Given the description of an element on the screen output the (x, y) to click on. 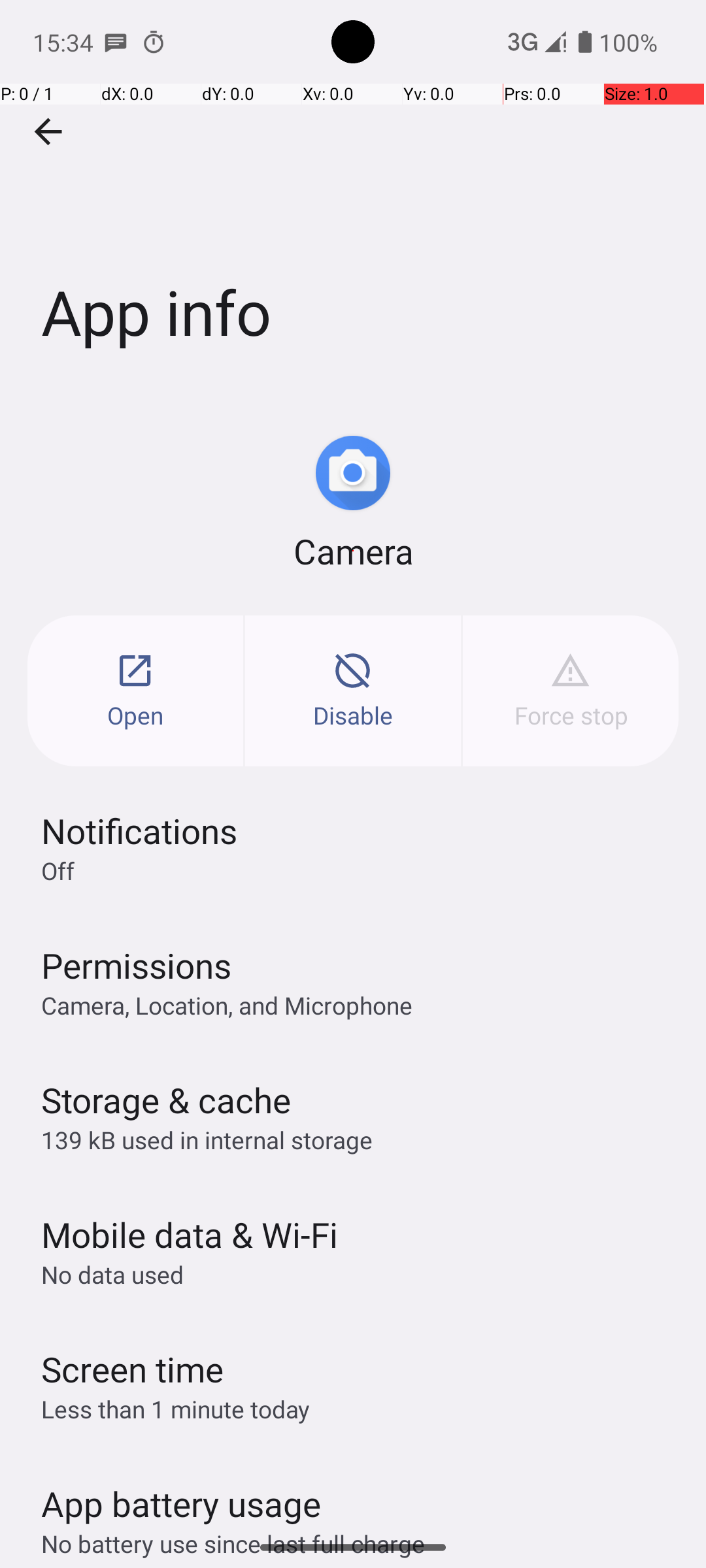
Camera, Location, and Microphone Element type: android.widget.TextView (226, 1004)
139 kB used in internal storage Element type: android.widget.TextView (206, 1139)
Less than 1 minute today Element type: android.widget.TextView (175, 1408)
